Given the description of an element on the screen output the (x, y) to click on. 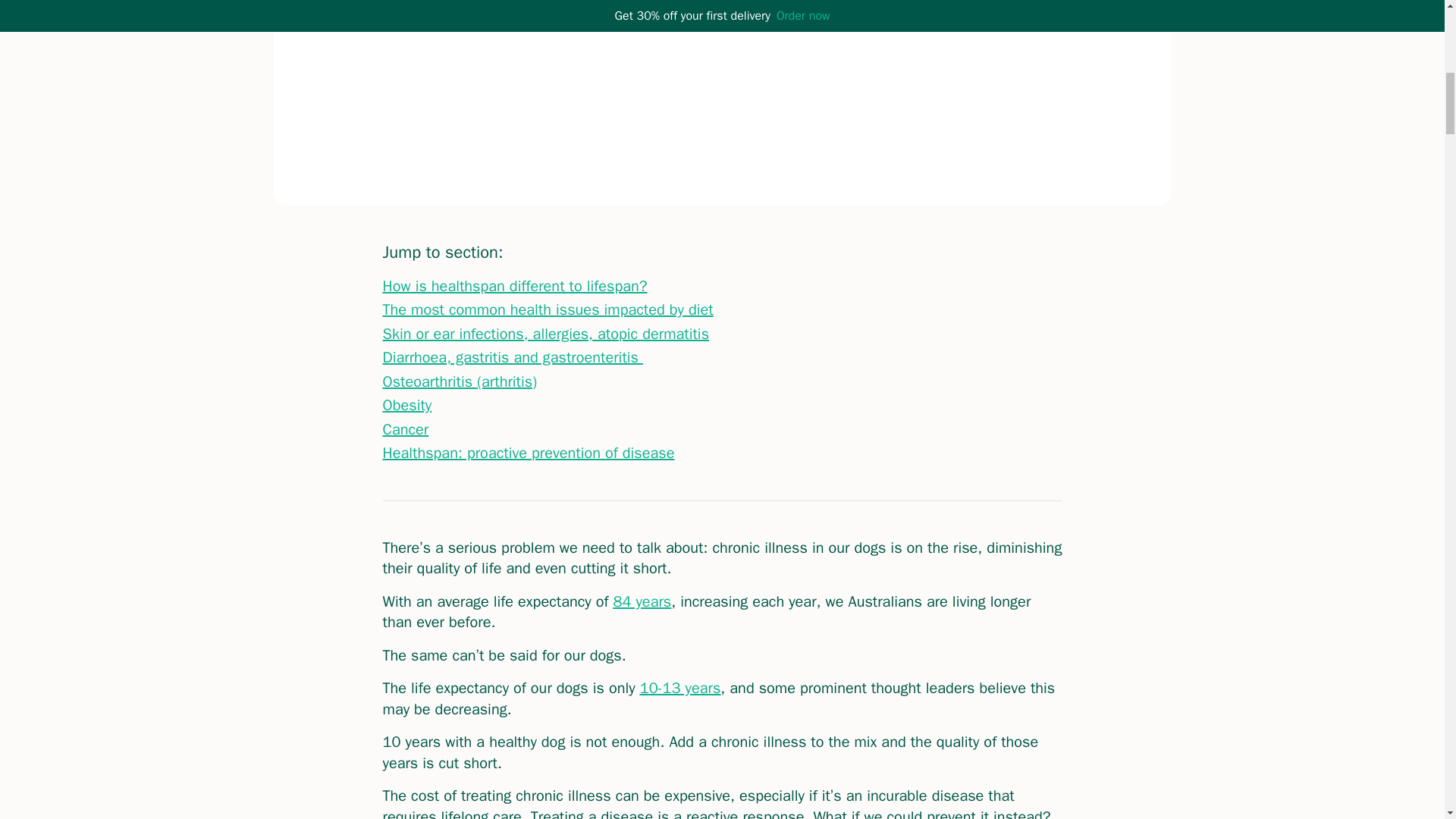
Diarrhoea, gastritis and gastroenteritis  (511, 357)
Cancer (404, 429)
Skin or ear infections, allergies, atopic dermatitis (545, 333)
Obesity (405, 404)
How is healthspan different to lifespan? (513, 285)
The most common health issues impacted by diet (547, 309)
